Given the description of an element on the screen output the (x, y) to click on. 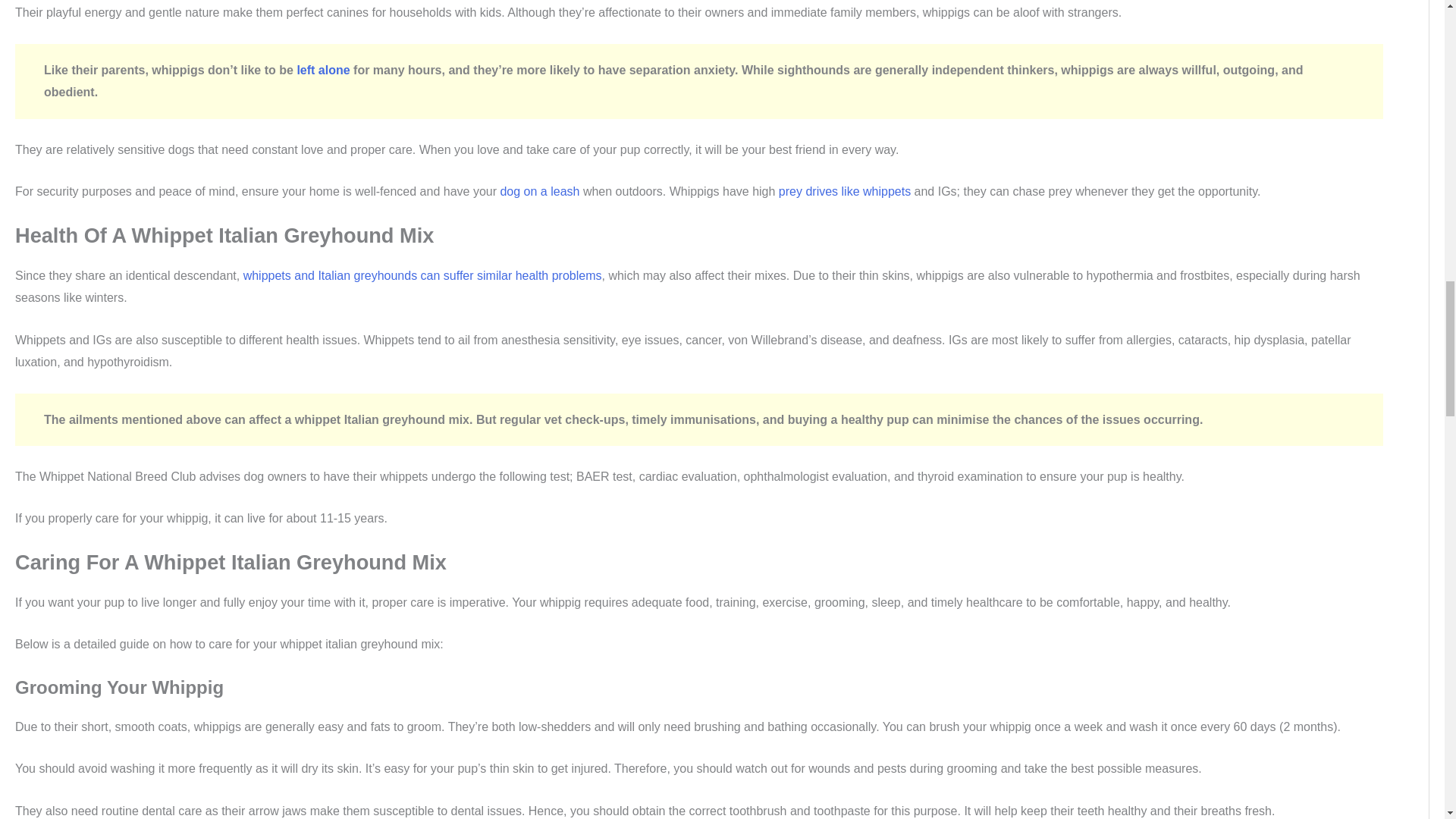
dog on a leash (539, 191)
left alone (323, 69)
prey drives like whippets (844, 191)
